Given the description of an element on the screen output the (x, y) to click on. 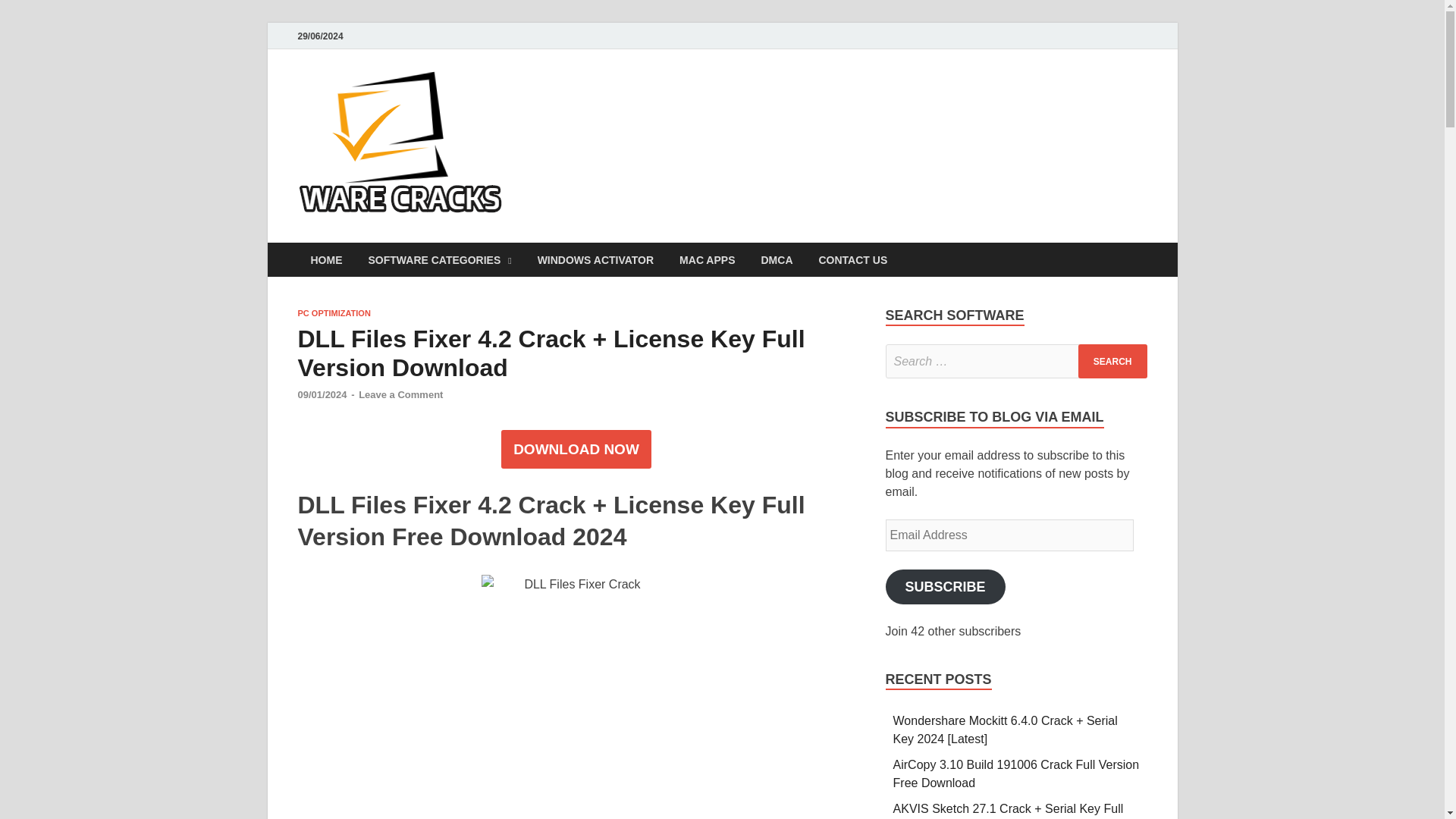
DOWNLOAD NOW (575, 448)
DMCA (776, 259)
HOME (326, 259)
MAC APPS (707, 259)
CONTACT US (852, 259)
DOWNLOAD NOW (575, 449)
SOFTWARE CATEGORIES (439, 259)
Ware Cracks (595, 100)
PC OPTIMIZATION (333, 312)
WINDOWS ACTIVATOR (595, 259)
